Given the description of an element on the screen output the (x, y) to click on. 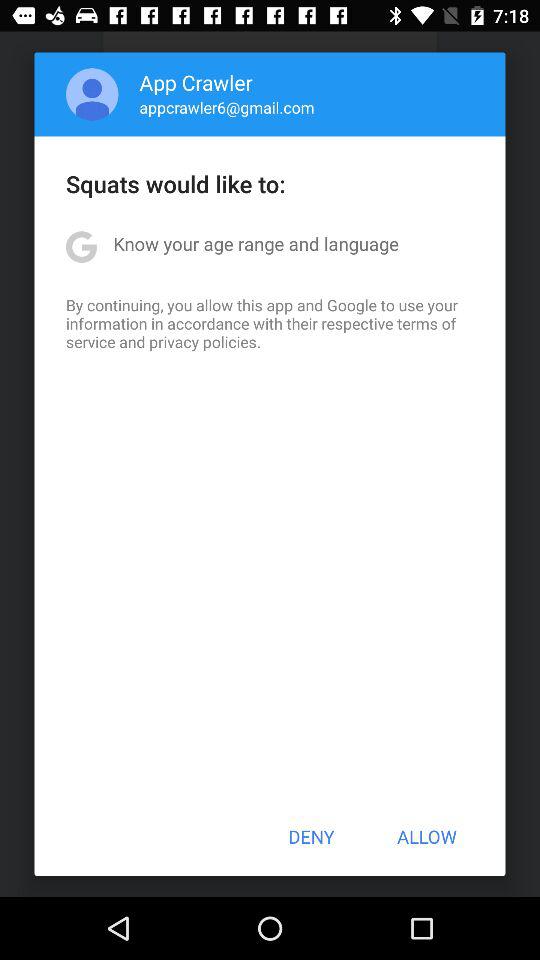
open item next to app crawler (92, 94)
